Given the description of an element on the screen output the (x, y) to click on. 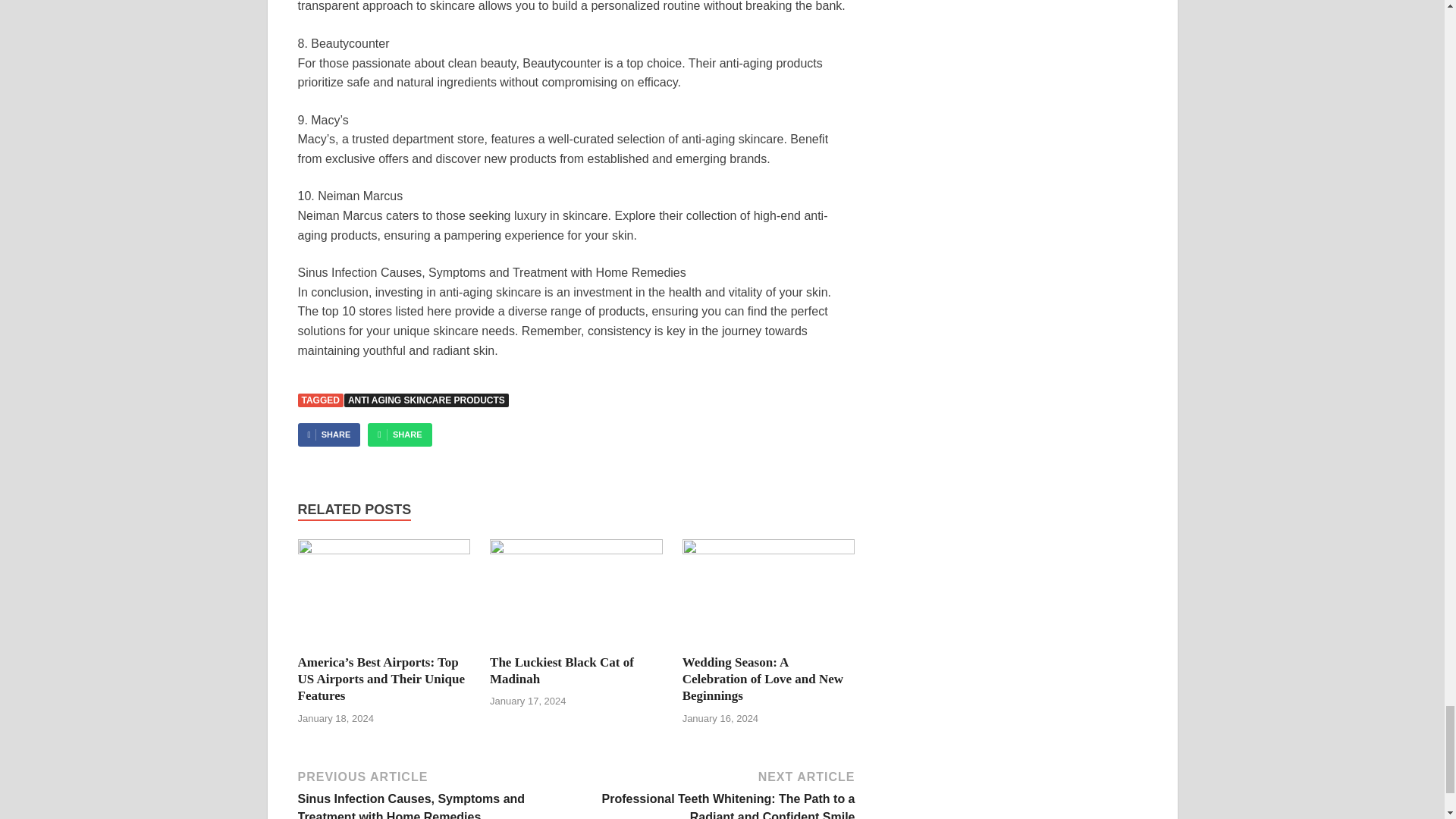
Wedding Season: A Celebration of Love and New Beginnings (762, 678)
SHARE (328, 434)
ANTI AGING SKINCARE PRODUCTS (425, 400)
The Luckiest Black Cat of Madinah (561, 670)
The Luckiest Black Cat of Madinah (575, 549)
The Luckiest Black Cat of Madinah (561, 670)
Wedding Season: A Celebration of Love and New Beginnings (762, 678)
Wedding Season: A Celebration of Love and New Beginnings (769, 549)
SHARE (399, 434)
